Given the description of an element on the screen output the (x, y) to click on. 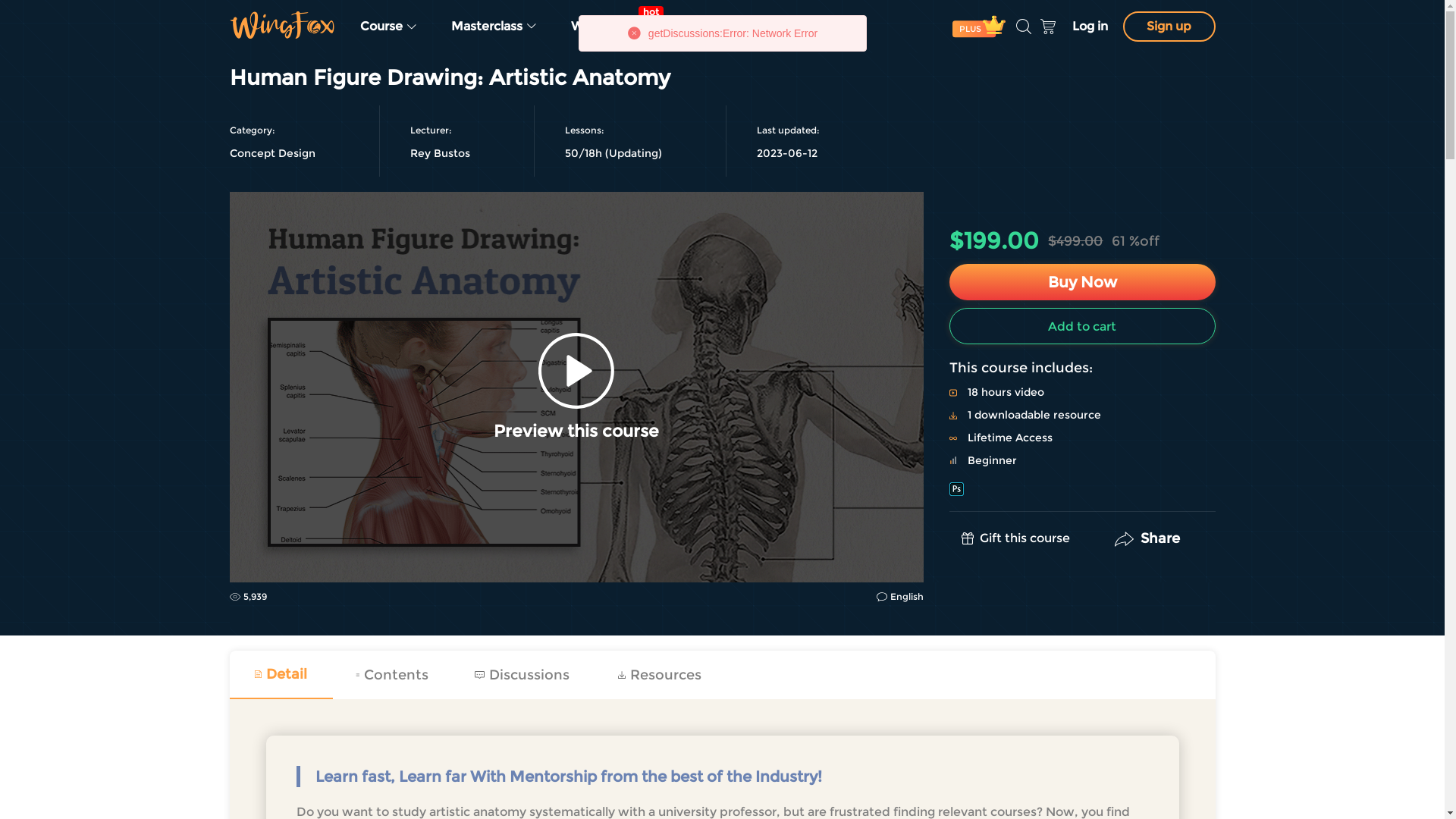
Human Figure Drawing: Artistic Anatomy Element type: hover (576, 386)
Course Element type: text (388, 26)
WINGFOX.COM Element type: hover (281, 24)
Workshop
hot Element type: text (608, 26)
Masterclass Element type: text (493, 26)
Concept Design Element type: text (271, 153)
